Given the description of an element on the screen output the (x, y) to click on. 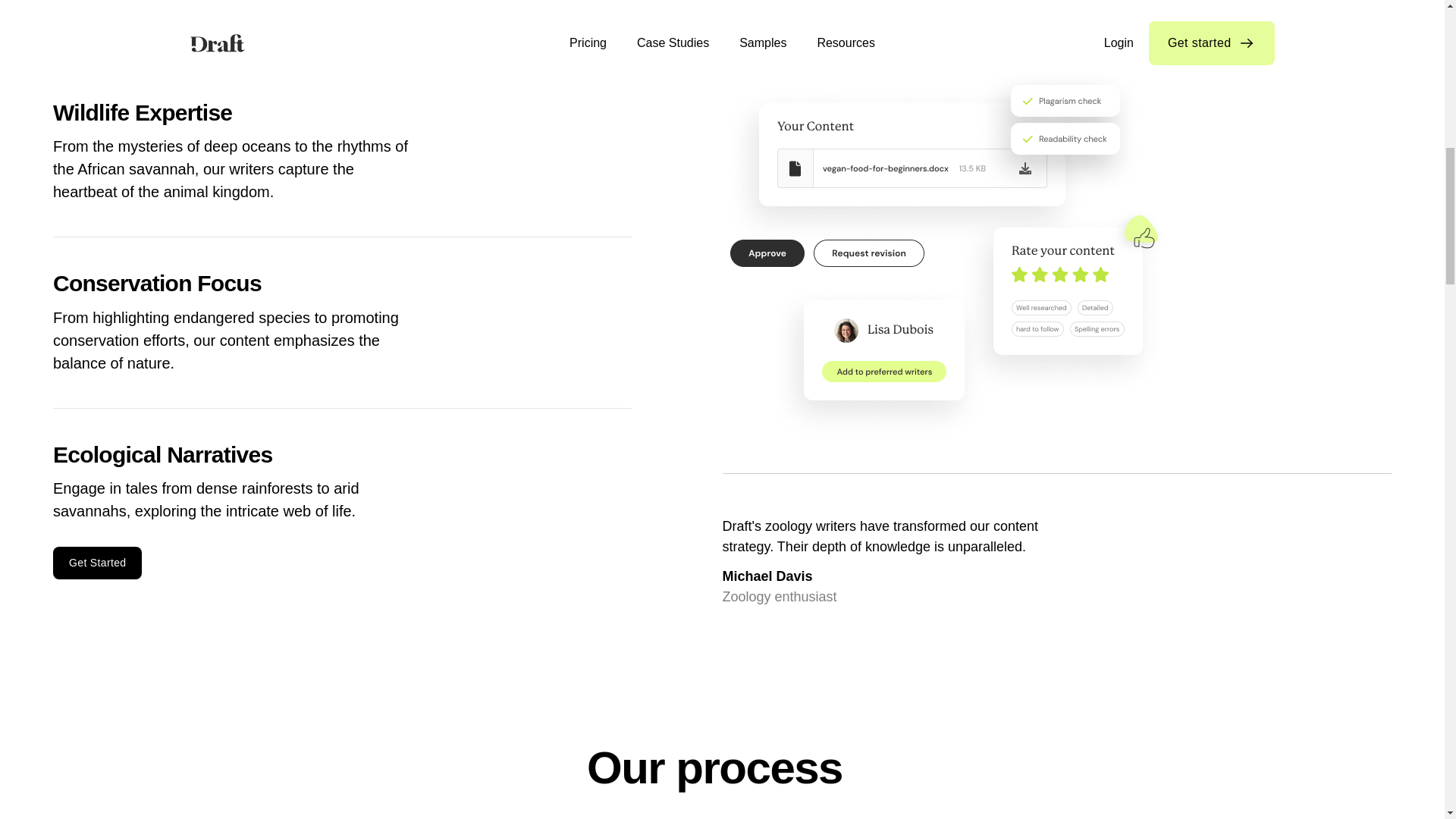
Get Started (96, 563)
